Given the description of an element on the screen output the (x, y) to click on. 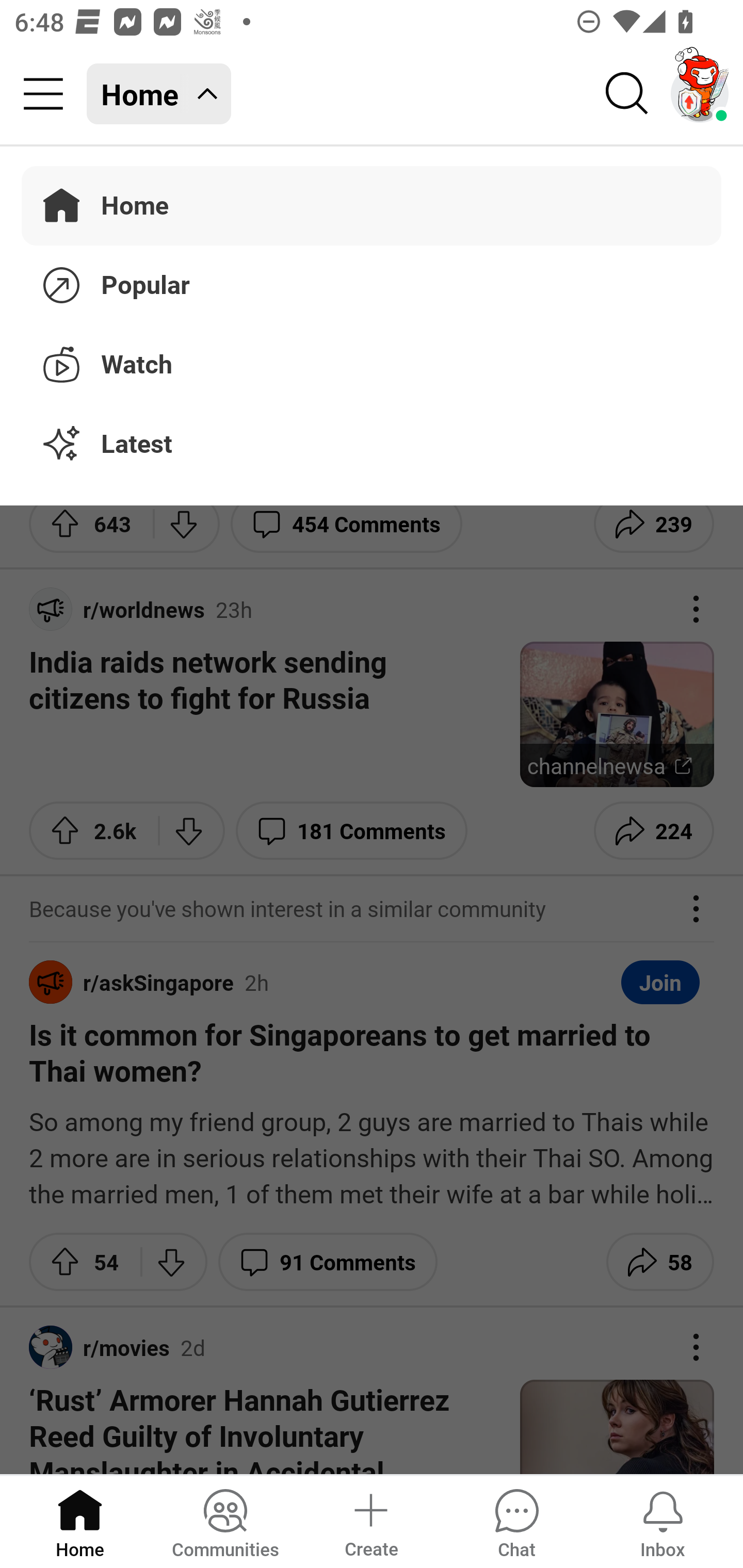
Community menu (43, 93)
Home Home feed (158, 93)
Search (626, 93)
TestAppium002 account (699, 93)
Popular Popular feed (371, 281)
Watch Watch feed (371, 361)
Latest Latest feed (371, 444)
Home (80, 1520)
Communities (225, 1520)
Create a post Create (370, 1520)
Chat (516, 1520)
Inbox (662, 1520)
